Given the description of an element on the screen output the (x, y) to click on. 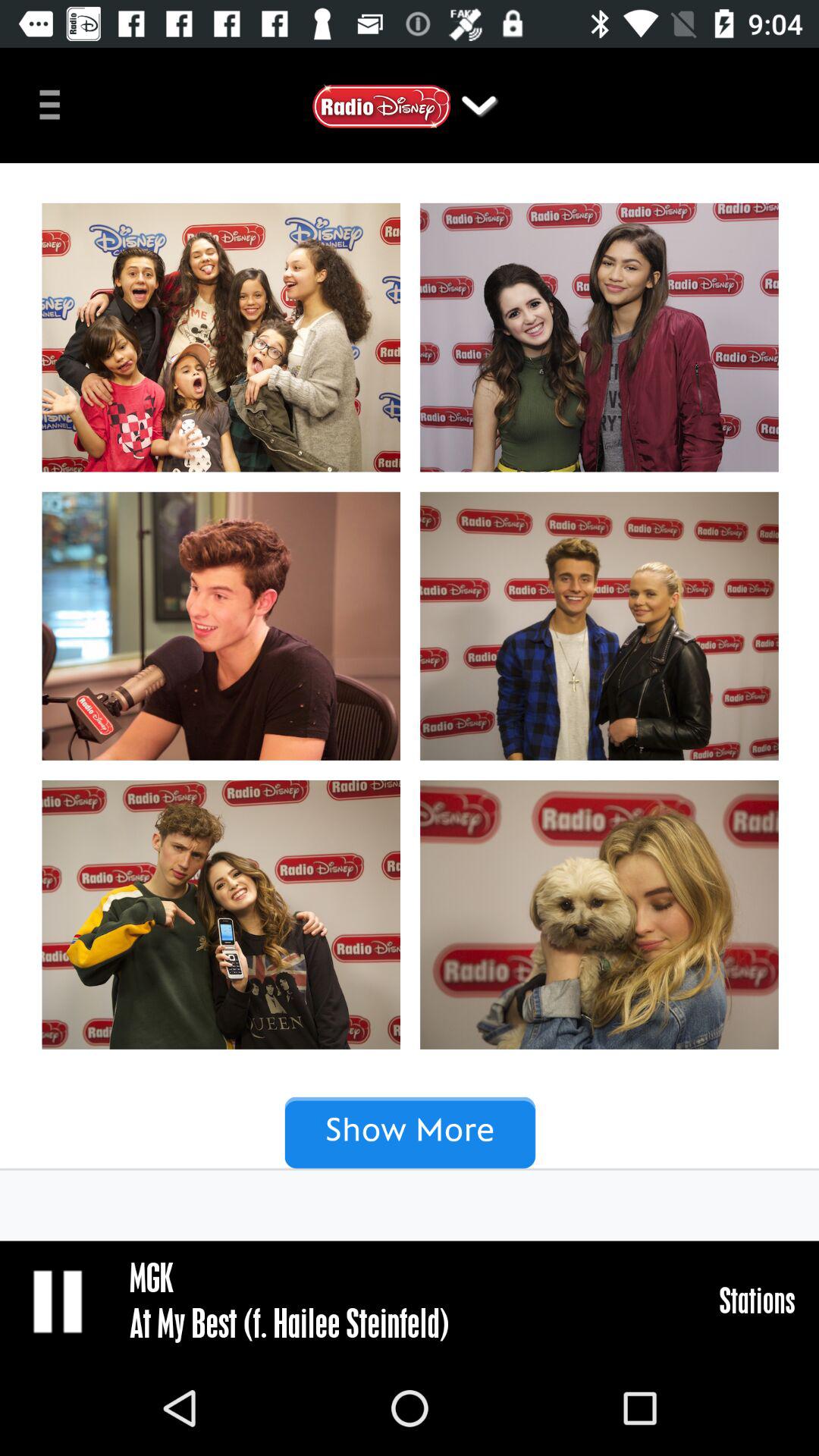
select the add (409, 702)
